Given the description of an element on the screen output the (x, y) to click on. 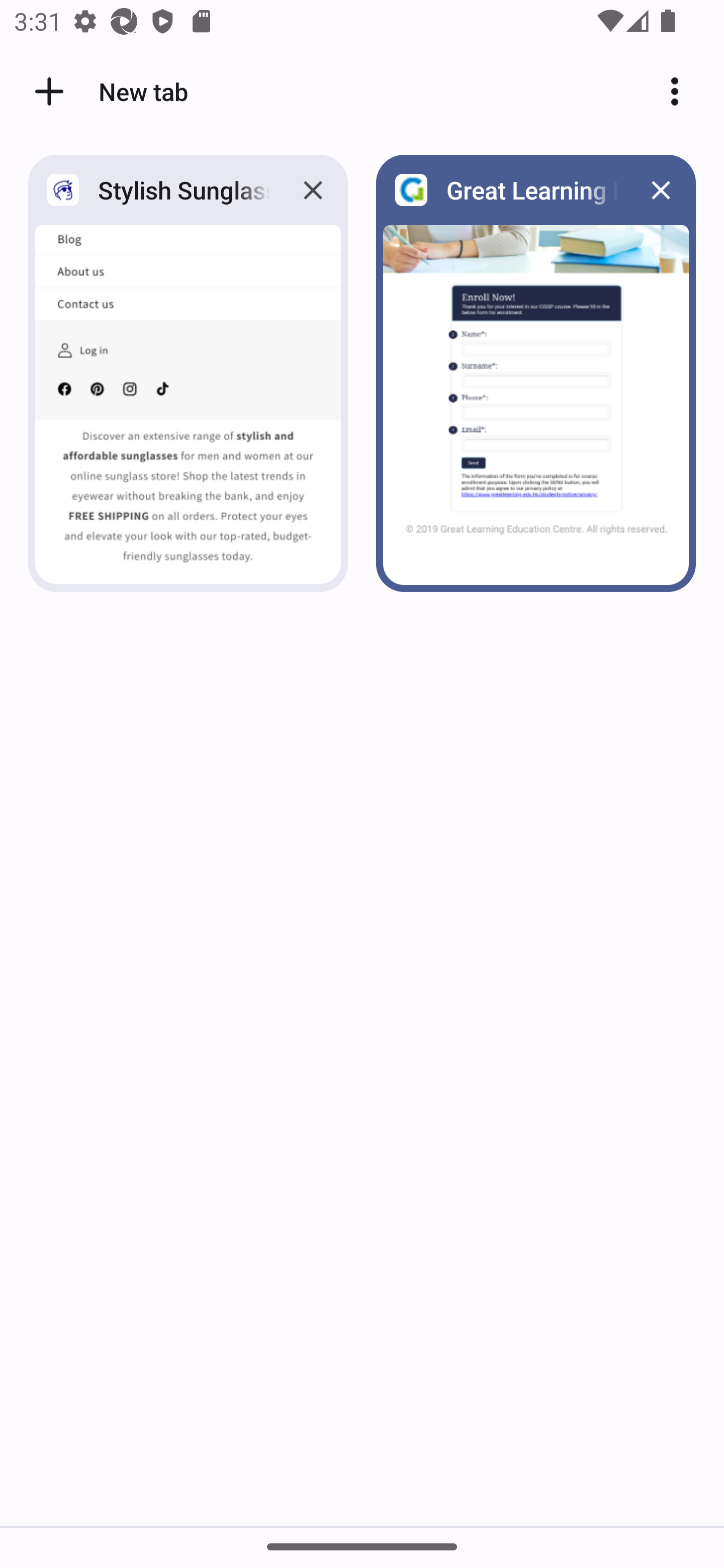
New tab (108, 91)
More options (681, 91)
Close Great Learning Education Centre tab (660, 189)
